Given the description of an element on the screen output the (x, y) to click on. 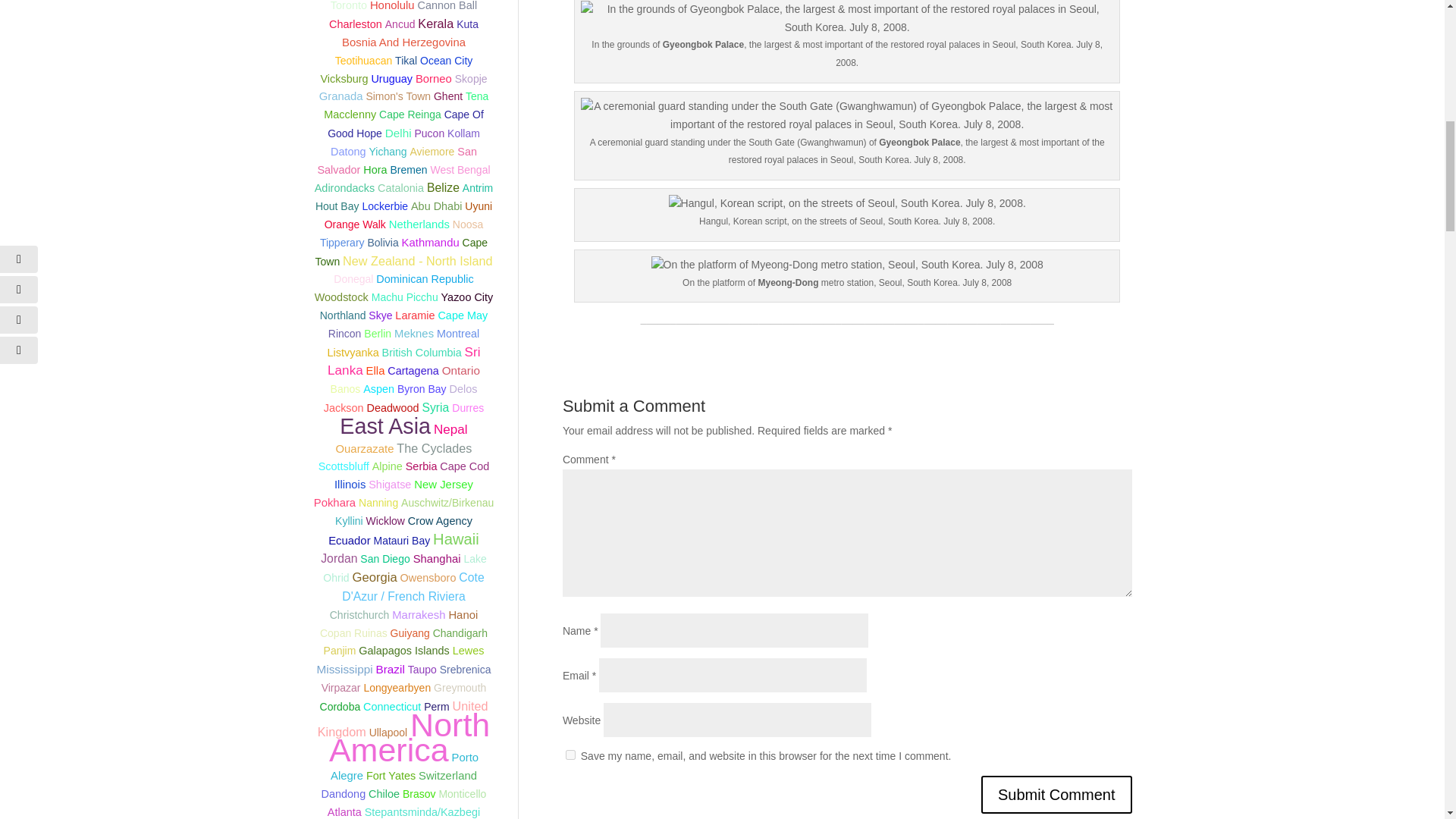
Submit Comment (1056, 794)
yes (570, 755)
Submit Comment (1056, 794)
